Given the description of an element on the screen output the (x, y) to click on. 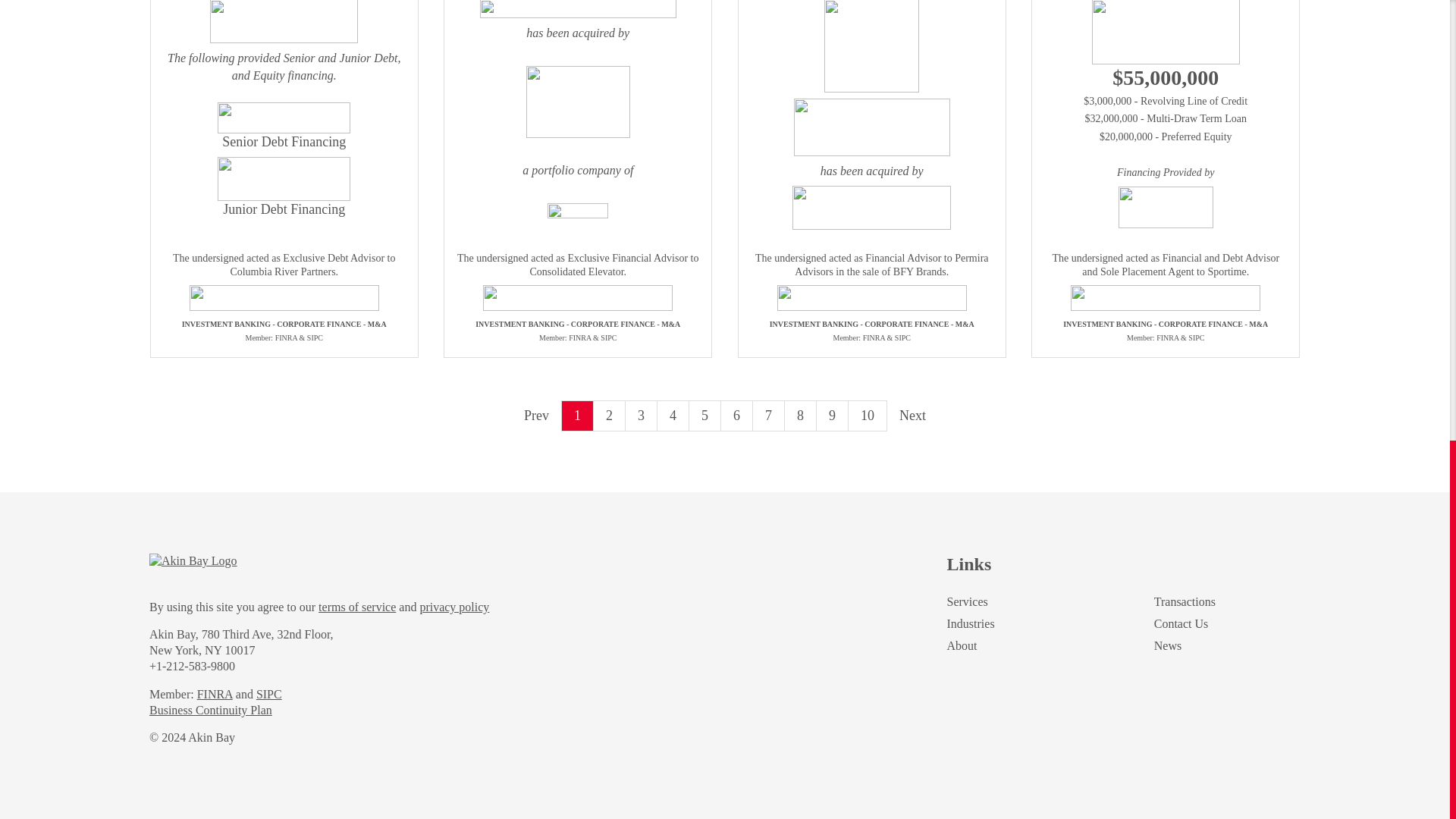
5 (704, 415)
1 (578, 415)
Next (912, 416)
7 (768, 415)
10 (867, 415)
9 (832, 415)
8 (800, 415)
4 (673, 415)
Prev (536, 416)
3 (642, 415)
2 (610, 415)
6 (736, 415)
